Given the description of an element on the screen output the (x, y) to click on. 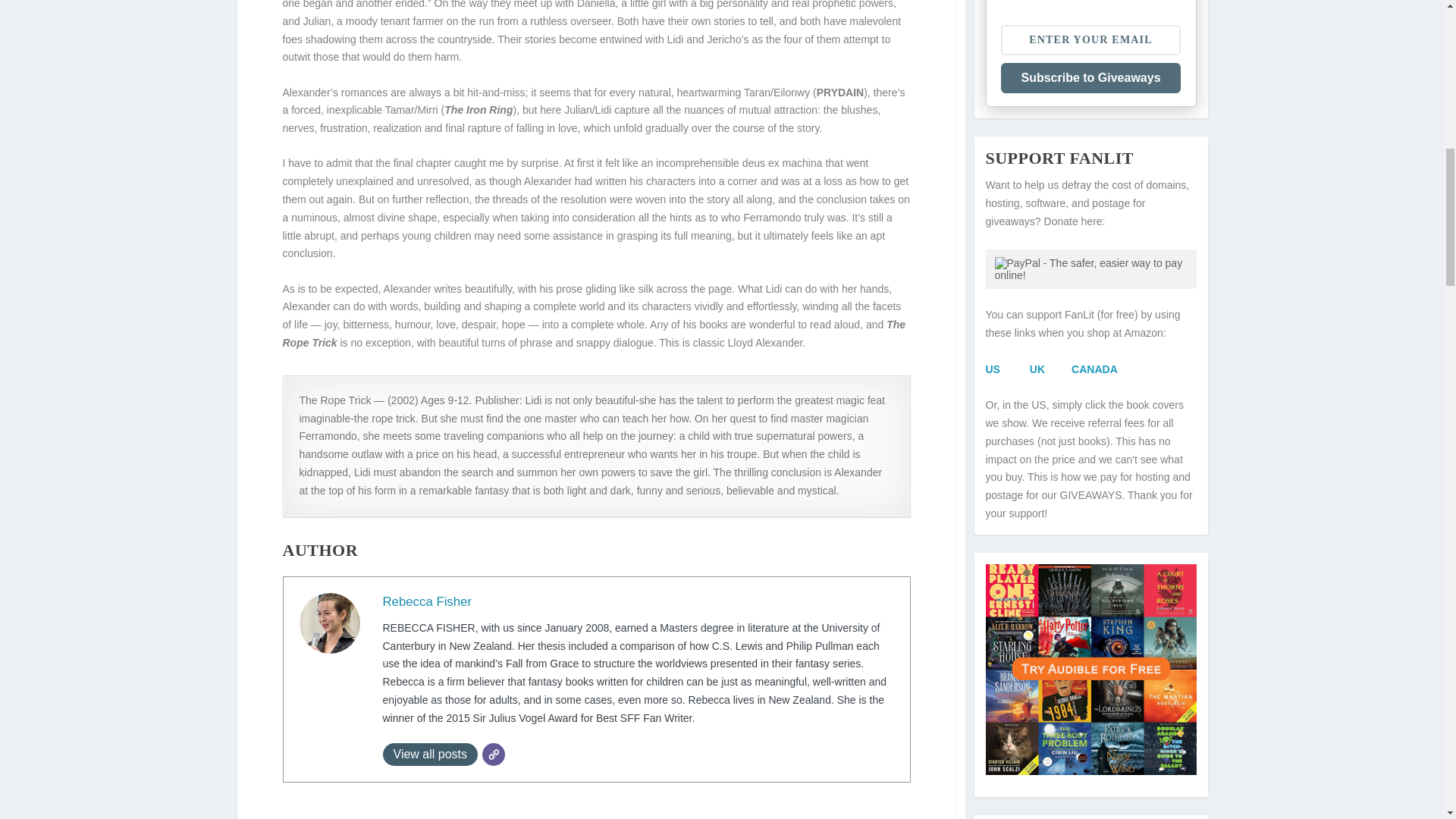
View all posts (429, 753)
Rebecca Fisher (426, 601)
